Given the description of an element on the screen output the (x, y) to click on. 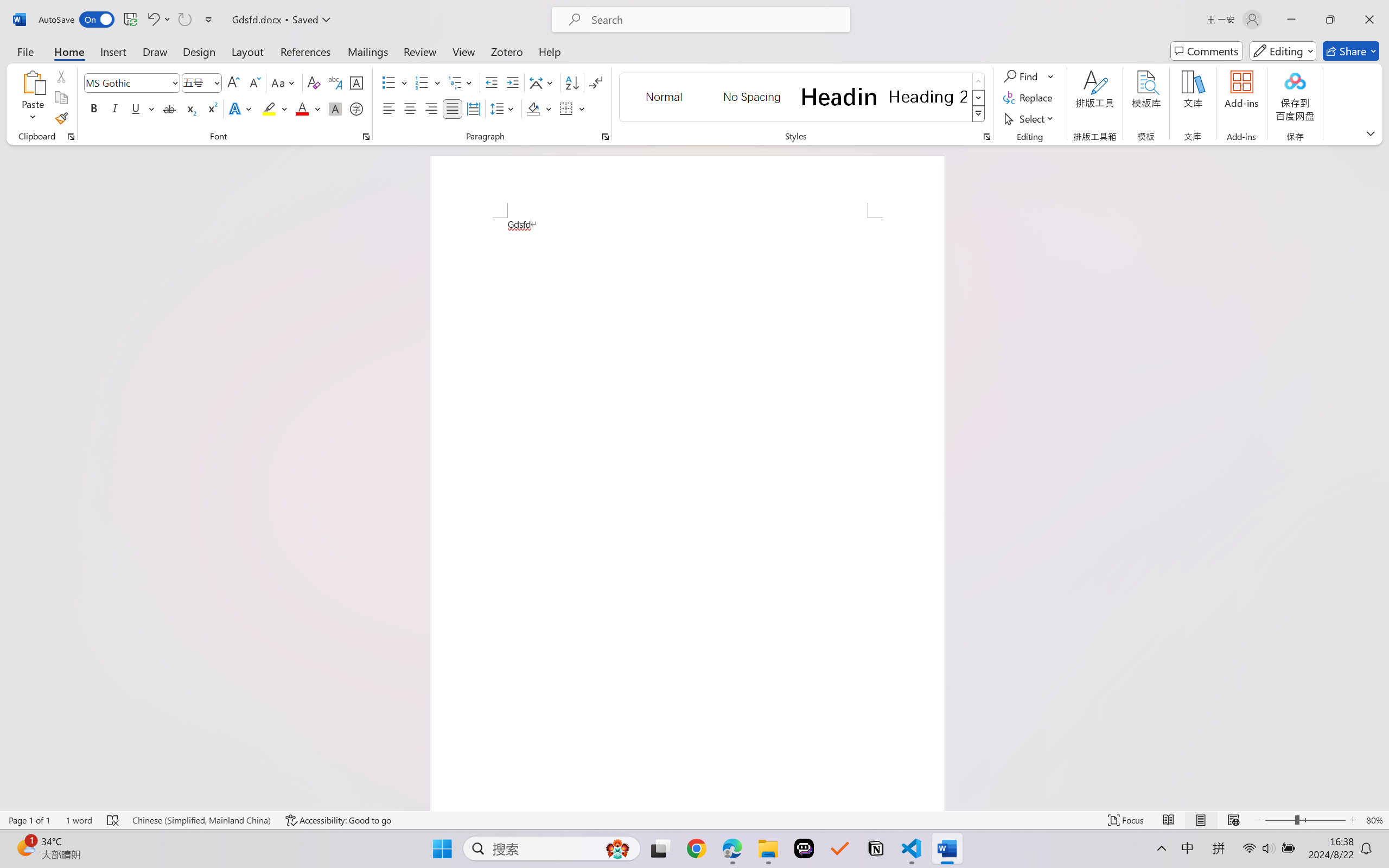
Can't Repeat (184, 19)
